Given the description of an element on the screen output the (x, y) to click on. 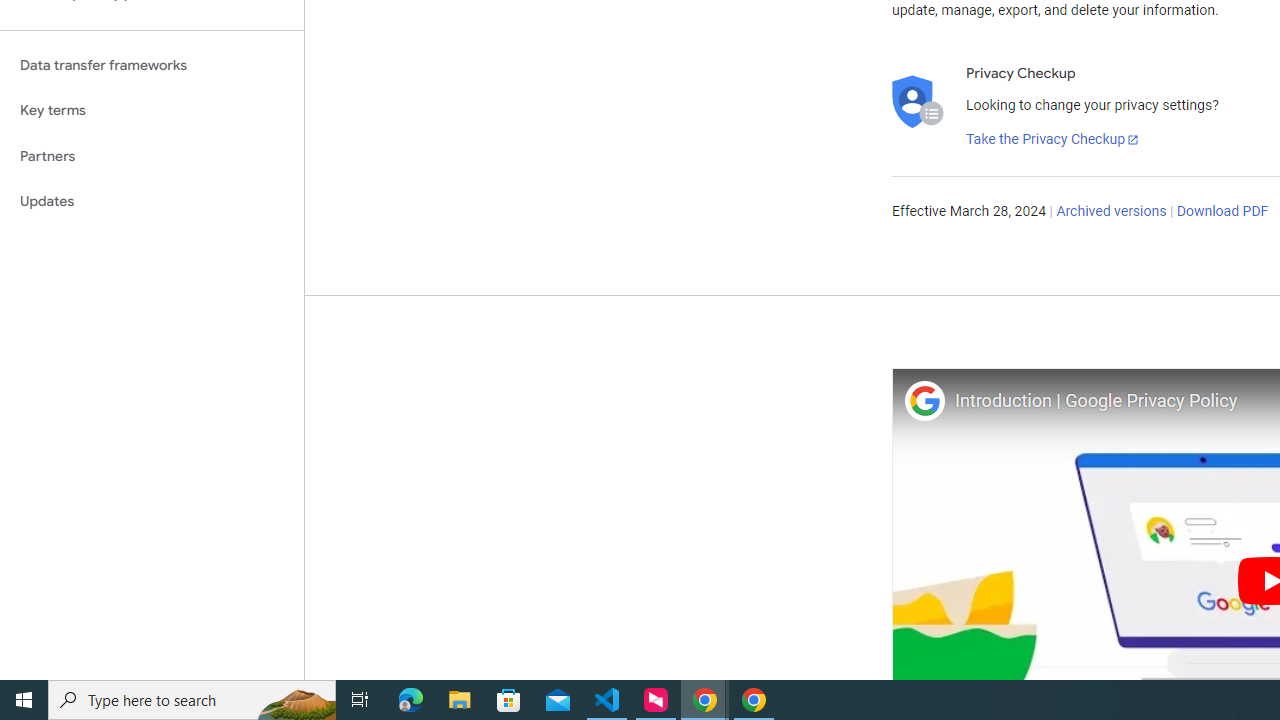
Archived versions (1111, 212)
Photo image of Google (924, 400)
Partners (152, 156)
Key terms (152, 110)
Take the Privacy Checkup (1053, 140)
Download PDF (1222, 212)
Data transfer frameworks (152, 65)
Updates (152, 201)
